Given the description of an element on the screen output the (x, y) to click on. 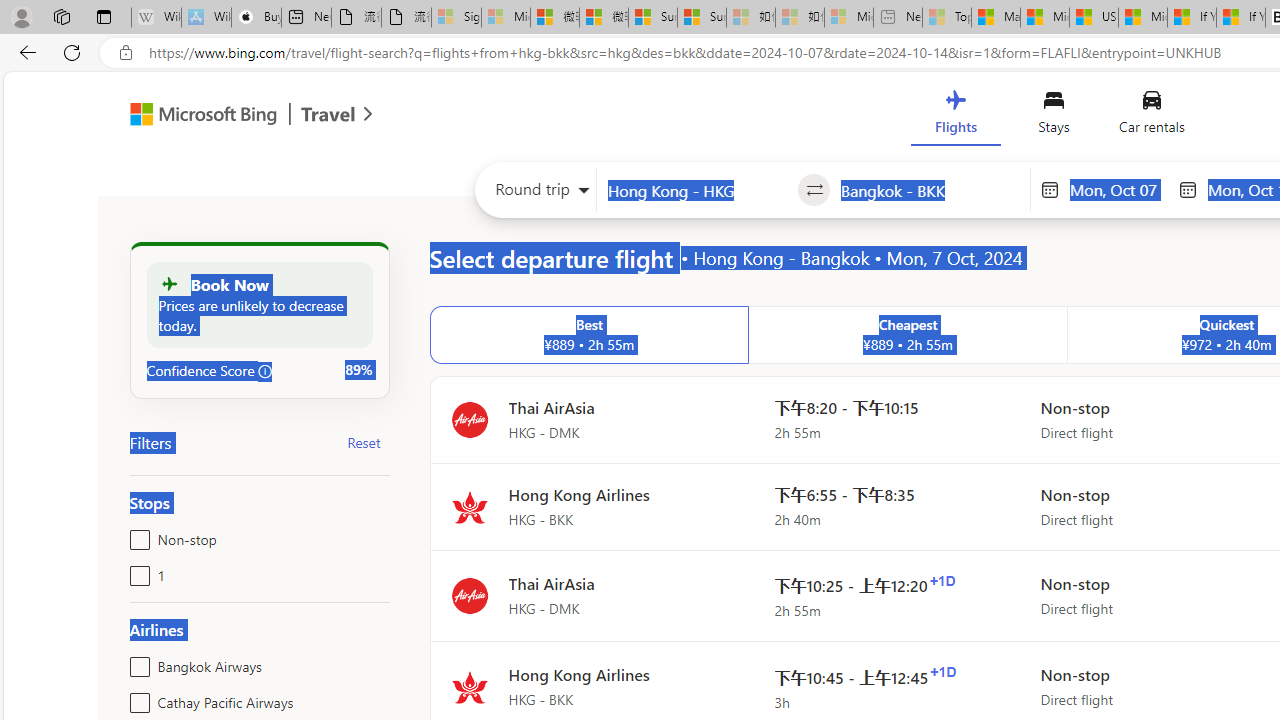
Select trip type (535, 193)
Flights (955, 116)
Cathay Pacific Airways (136, 698)
Leaving from? (697, 190)
Start Date (1118, 189)
Microsoft Bing (194, 116)
Buy iPad - Apple (256, 17)
